Given the description of an element on the screen output the (x, y) to click on. 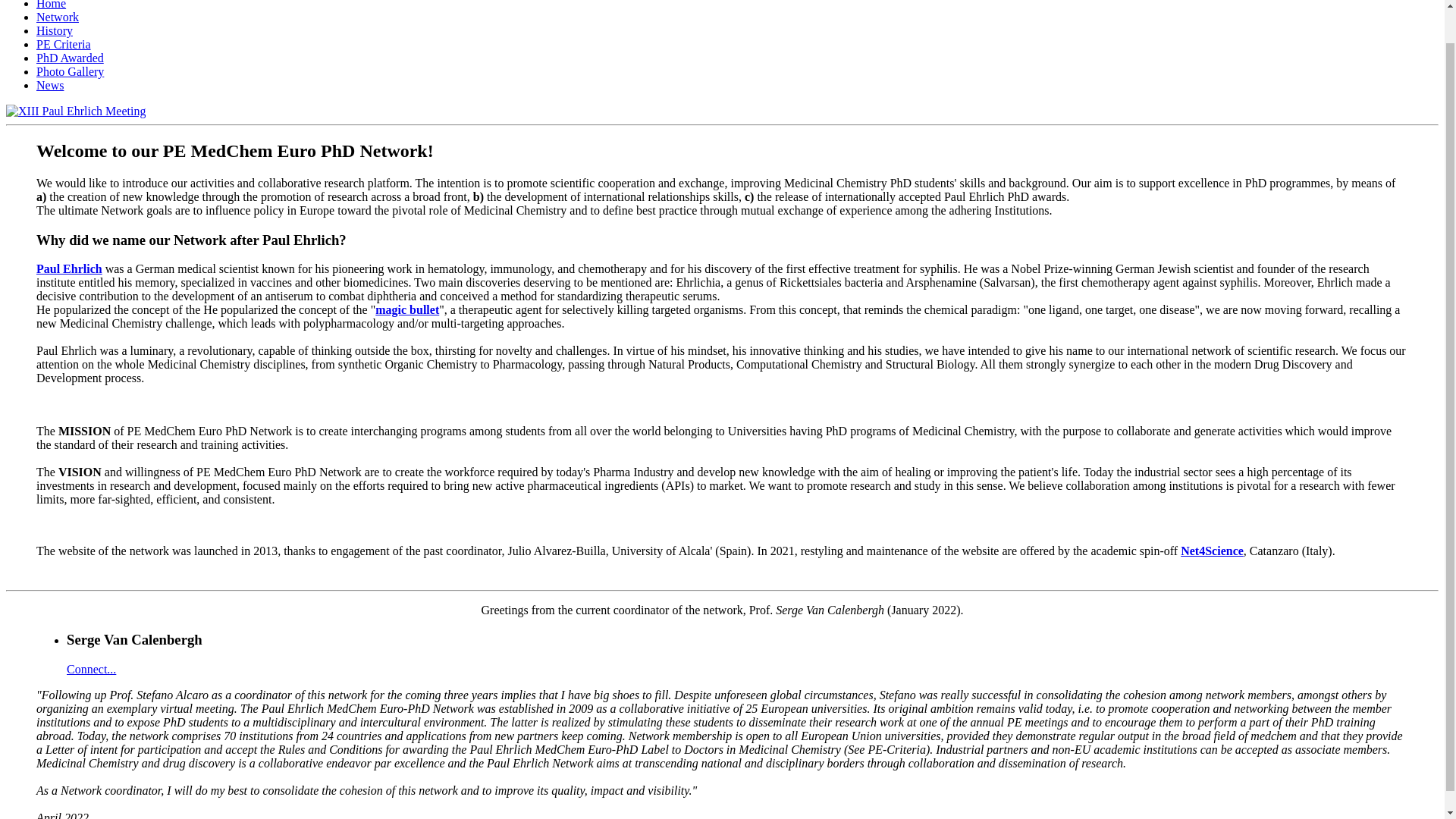
Connect... (91, 668)
History (54, 30)
Network (57, 16)
Paul Ehrlich (68, 268)
Photo Gallery (69, 71)
News (50, 84)
Home (50, 4)
magic bullet (407, 309)
Net4Science (1211, 550)
XIII Paul Ehrlich Meeting (75, 110)
